Given the description of an element on the screen output the (x, y) to click on. 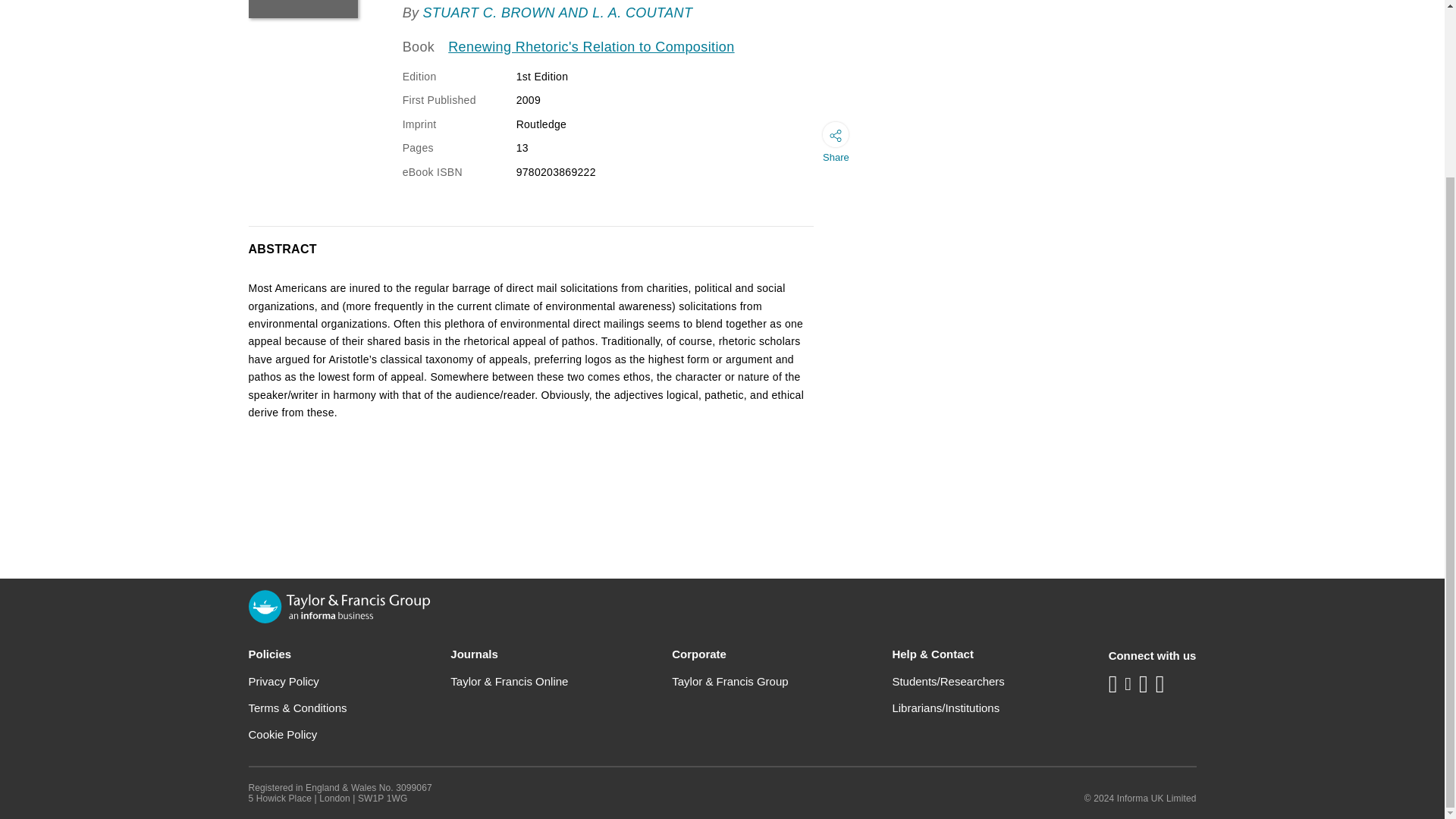
STUART C. BROWN AND L. A. COUTANT (557, 12)
Privacy Policy (283, 681)
Renewing Rhetoric's Relation to Composition (590, 47)
Cookie Policy (282, 734)
